Given the description of an element on the screen output the (x, y) to click on. 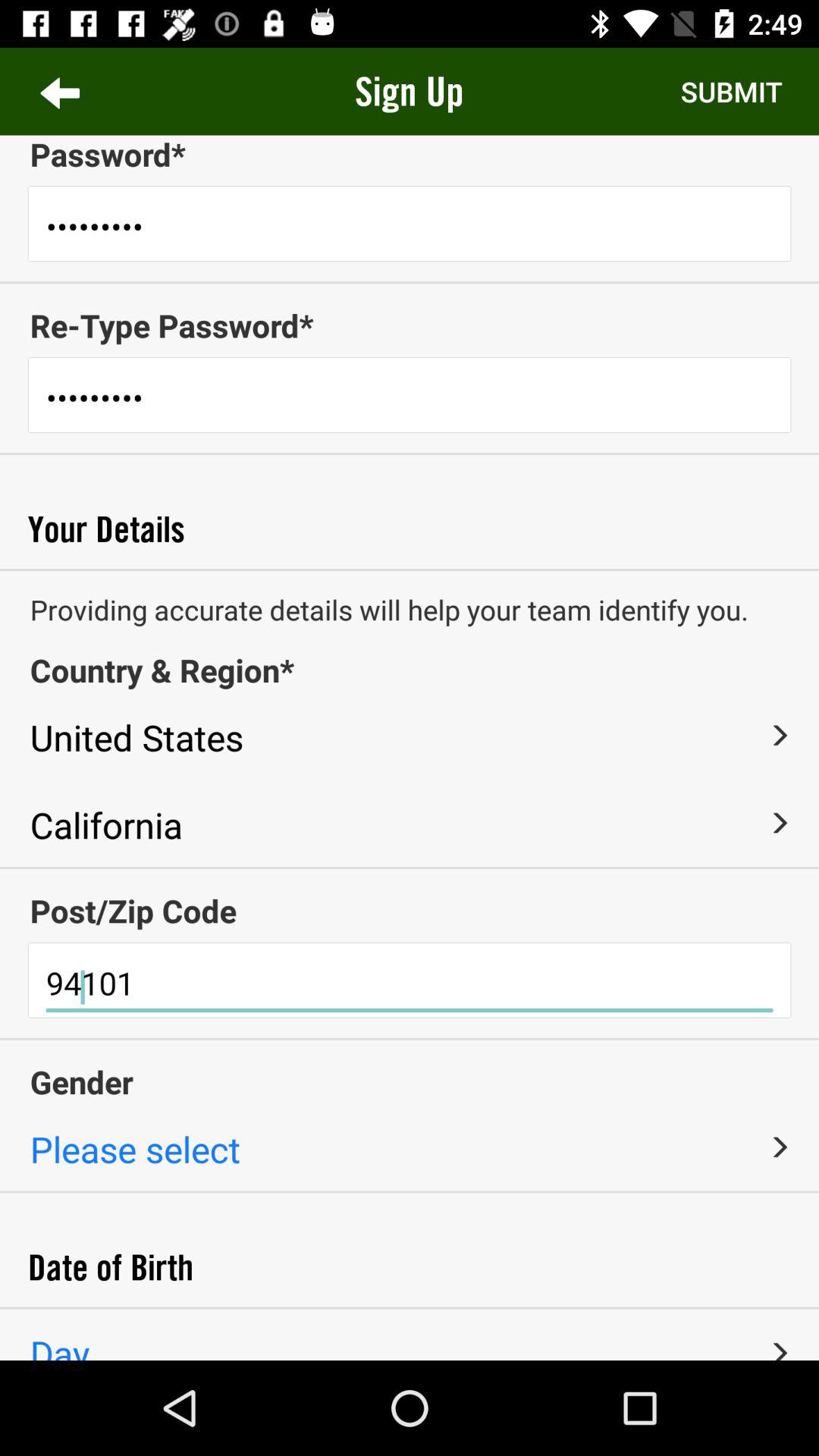
click the icon below the your details item (409, 569)
